Given the description of an element on the screen output the (x, y) to click on. 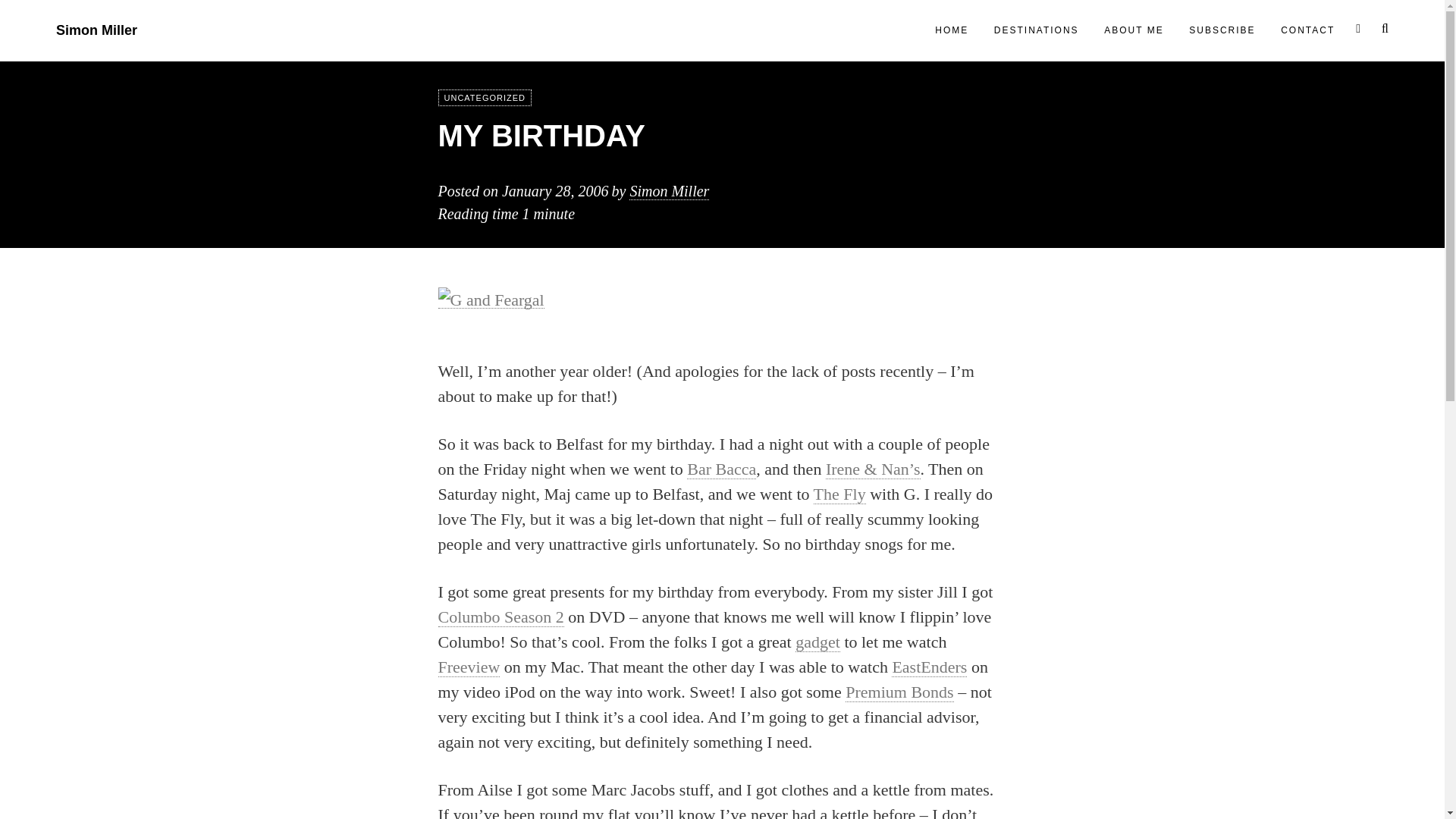
UNCATEGORIZED (485, 97)
Simon Miller (96, 30)
CONTACT (1307, 30)
DESTINATIONS (1036, 30)
Columbo Season 2 (501, 617)
gadget (817, 641)
HOME (951, 30)
Simon Miller (668, 190)
ABOUT ME (1133, 30)
SUBSCRIBE (1221, 30)
